Given the description of an element on the screen output the (x, y) to click on. 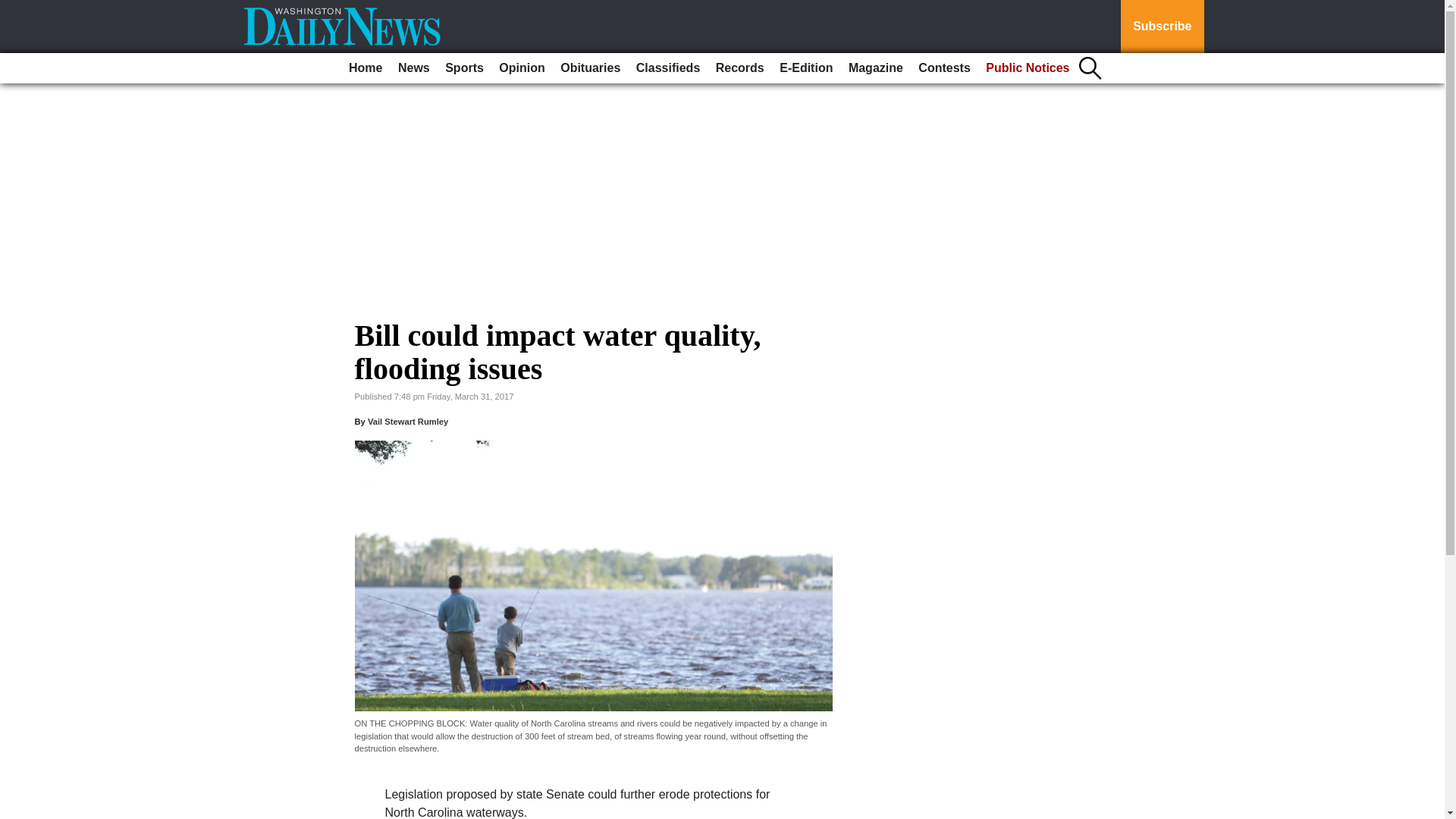
Contests (943, 68)
News (413, 68)
Public Notices (1027, 68)
Sports (464, 68)
Go (13, 9)
Home (365, 68)
Magazine (875, 68)
E-Edition (805, 68)
Subscribe (1162, 26)
Vail Stewart Rumley (408, 420)
